Given the description of an element on the screen output the (x, y) to click on. 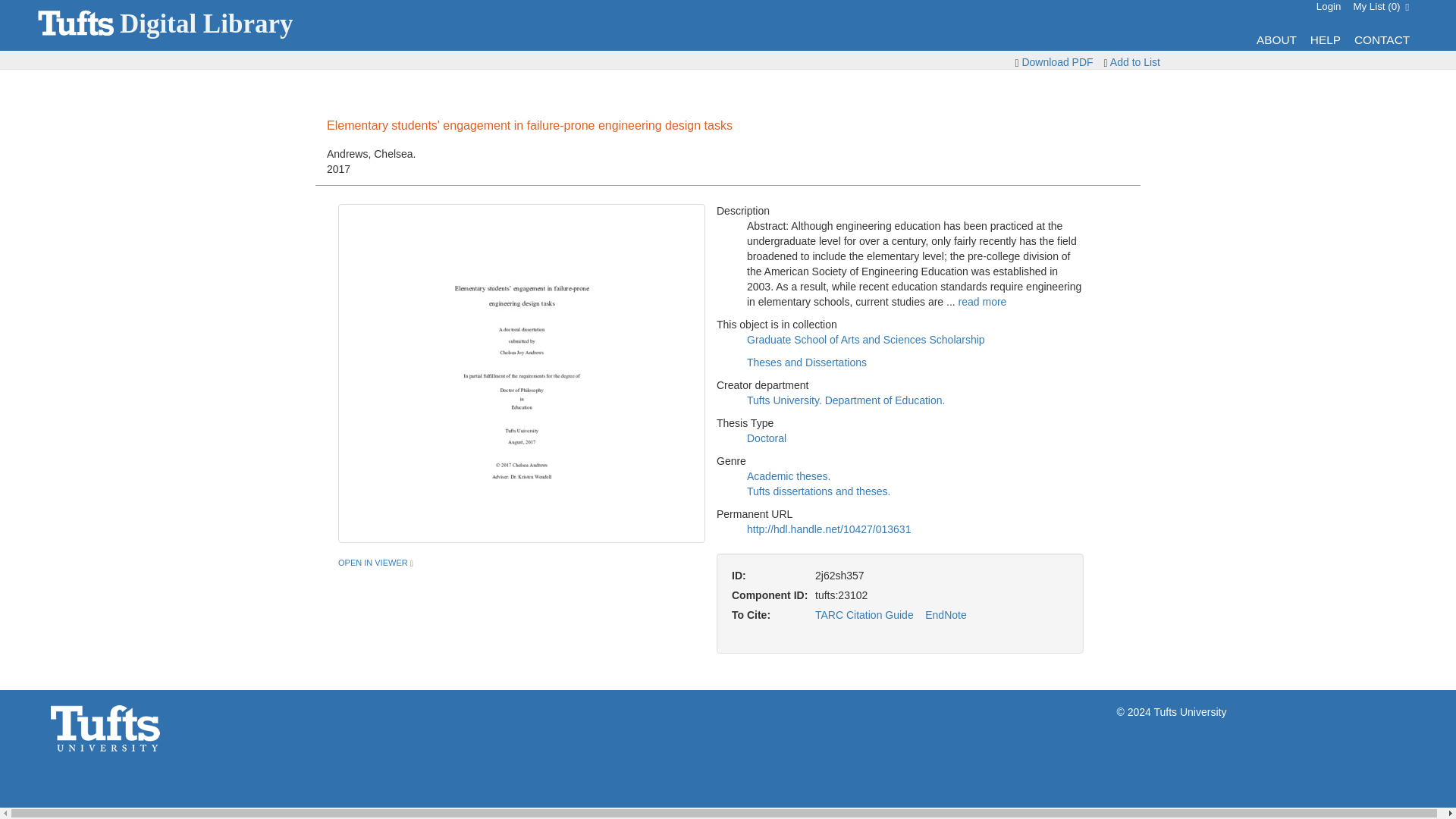
TARC Citation Guide (864, 614)
Theses and Dissertations (806, 362)
Tufts dissertations and theses. (817, 491)
CONTACT (1381, 39)
Doctoral (766, 438)
OPEN IN VIEWER (727, 25)
Login (375, 562)
HELP (1328, 6)
Add to List (1325, 39)
Academic theses. (1134, 61)
Graduate School of Arts and Sciences Scholarship (788, 476)
EndNote (865, 339)
Download PDF (945, 614)
Tufts University. Department of Education. (1057, 61)
